Given the description of an element on the screen output the (x, y) to click on. 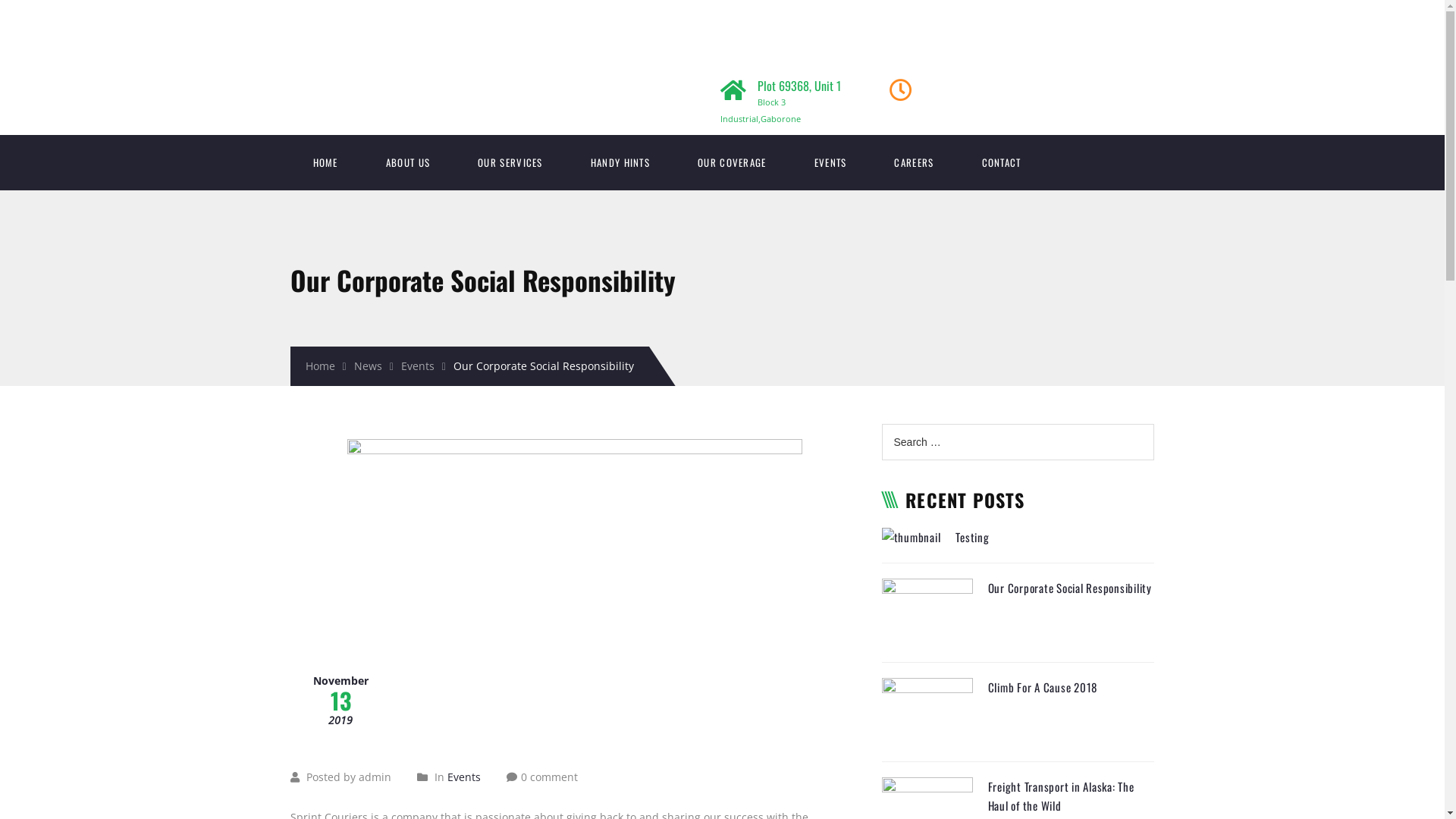
ABOUT US Element type: text (407, 162)
News Element type: text (373, 365)
Search Element type: text (37, 17)
Testing Element type: text (971, 536)
Events Element type: text (463, 776)
CONTACT Element type: text (1001, 162)
OUR SERVICES Element type: text (510, 162)
Climb For A Cause 2018 Element type: text (1042, 686)
EVENTS Element type: text (830, 162)
HOME Element type: text (324, 162)
Our Corporate Social Responsibility Element type: text (1069, 587)
HANDY HINTS Element type: text (619, 162)
Home Element type: text (324, 365)
Your Number 1 Courier In Botswana Element type: text (722, 29)
Freight Transport in Alaska: The Haul of the Wild Element type: text (1060, 795)
Events Element type: text (423, 365)
OUR COVERAGE Element type: text (731, 162)
CAREERS Element type: text (913, 162)
